Given the description of an element on the screen output the (x, y) to click on. 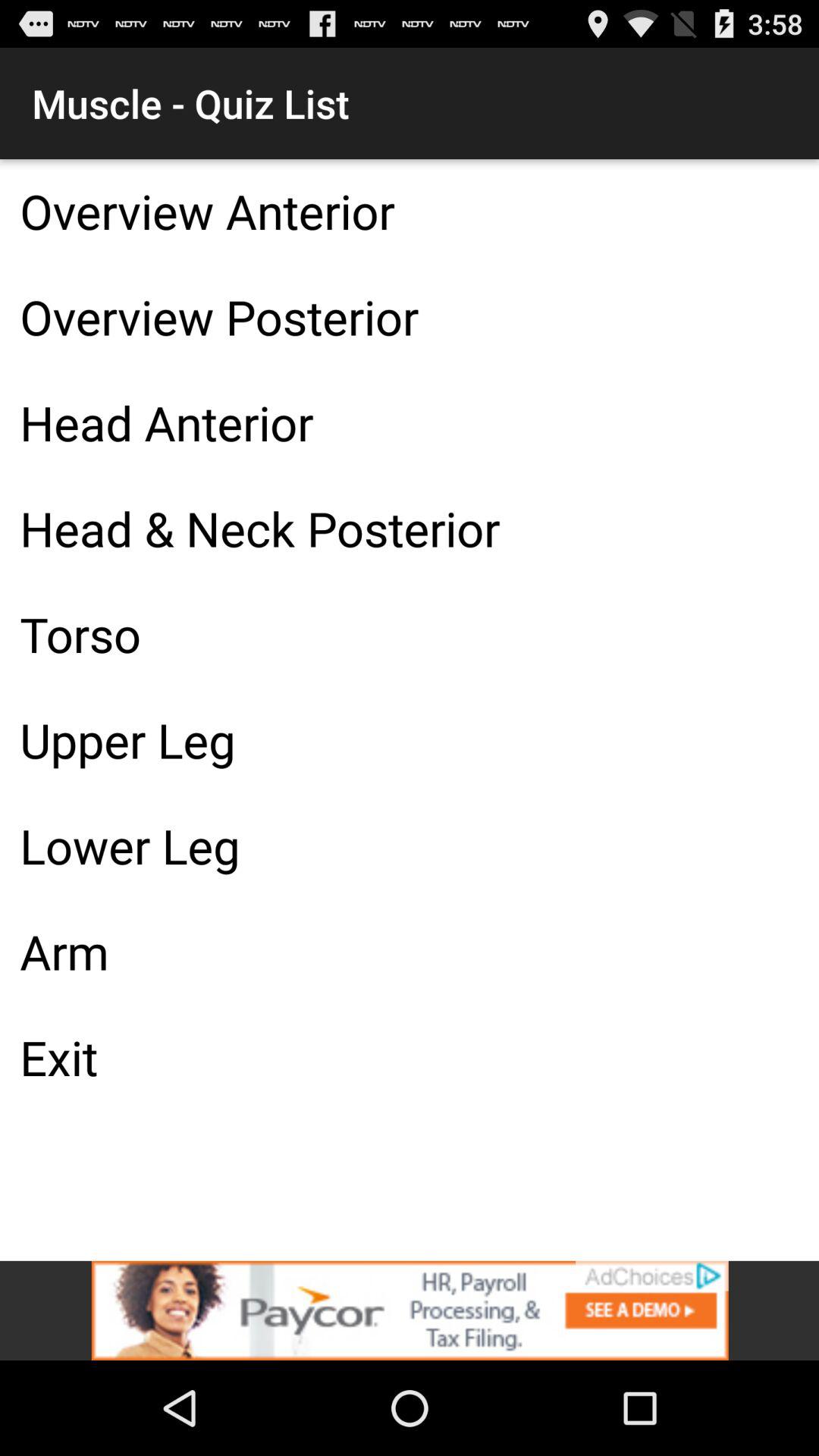
advertisement page (409, 1310)
